Given the description of an element on the screen output the (x, y) to click on. 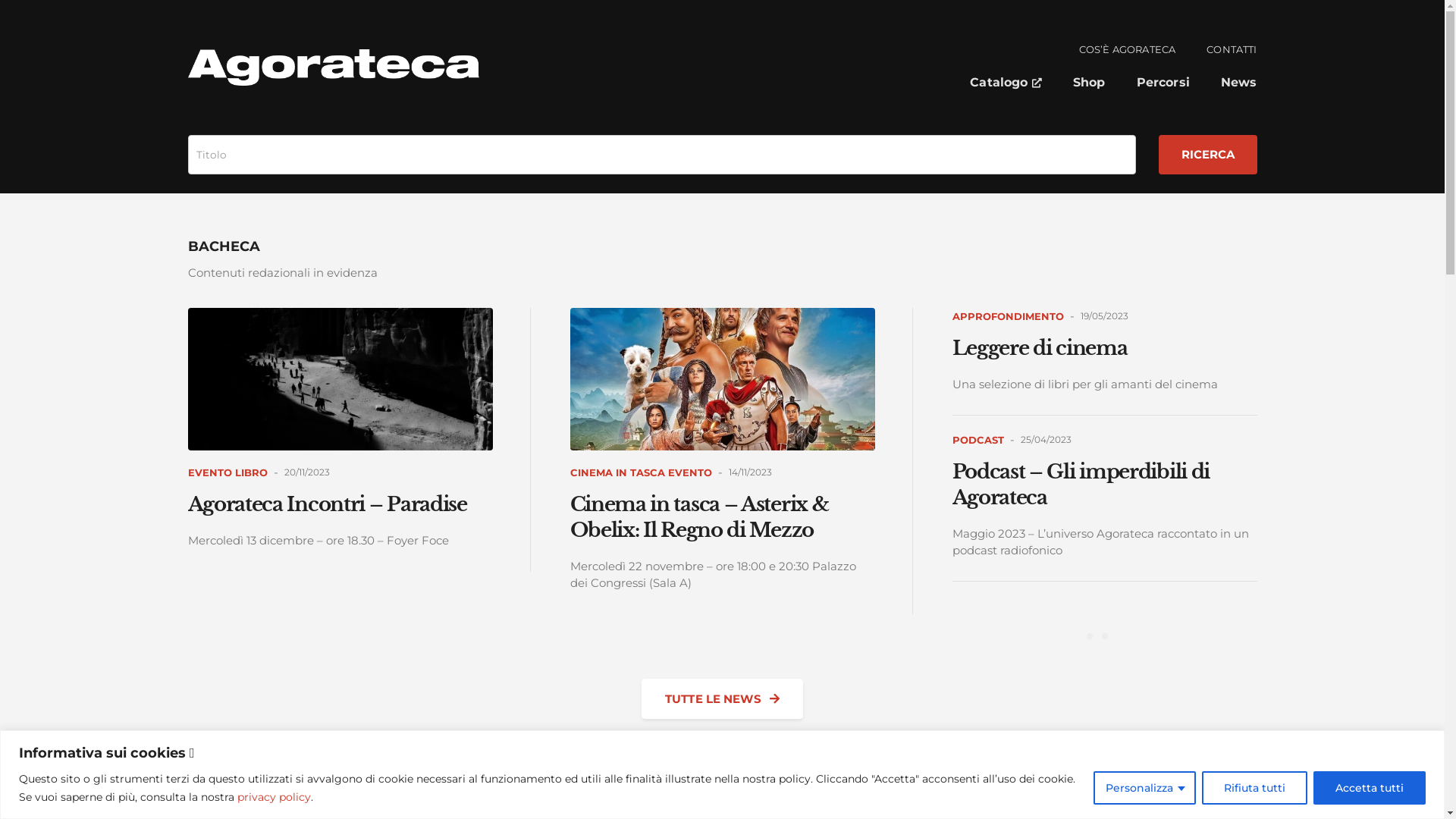
Shop Element type: text (1089, 84)
Catalogo Element type: text (1005, 84)
Agorateca Element type: hover (333, 67)
Percorsi Element type: text (1162, 84)
RICERCA Element type: text (1207, 154)
TUTTE LE NEWS Element type: text (722, 698)
Leggere di cinema Element type: text (1039, 347)
News Element type: text (1238, 84)
CONTATTI Element type: text (1231, 50)
